Given the description of an element on the screen output the (x, y) to click on. 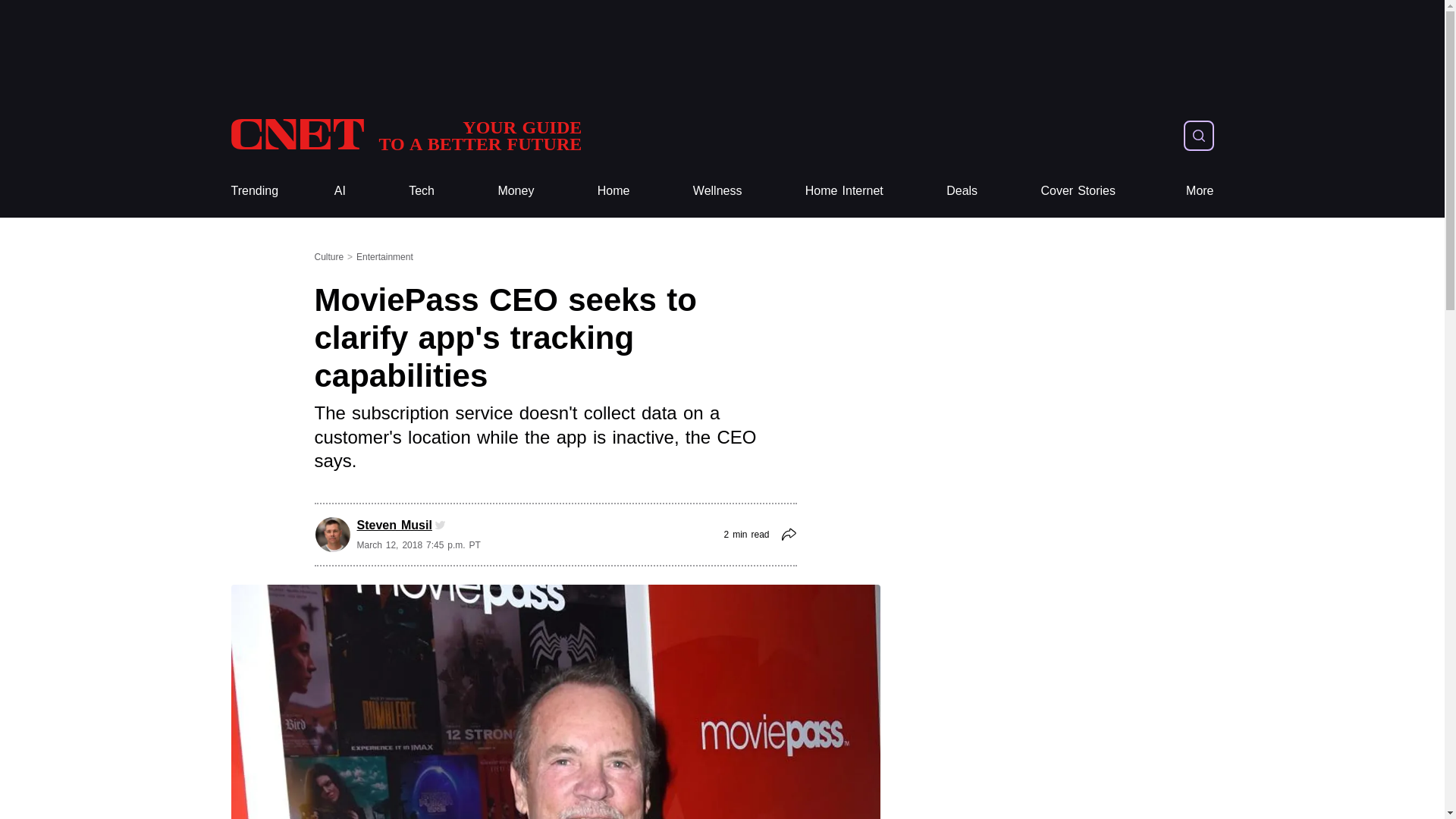
Tech (421, 190)
Money (515, 190)
Wellness (717, 190)
Home Internet (844, 190)
Wellness (717, 190)
Money (515, 190)
Home (613, 190)
More (1199, 190)
Cover Stories (1078, 190)
Tech (421, 190)
Deals (961, 190)
Home Internet (844, 190)
Trending (254, 190)
CNET (405, 135)
Trending (254, 190)
